Given the description of an element on the screen output the (x, y) to click on. 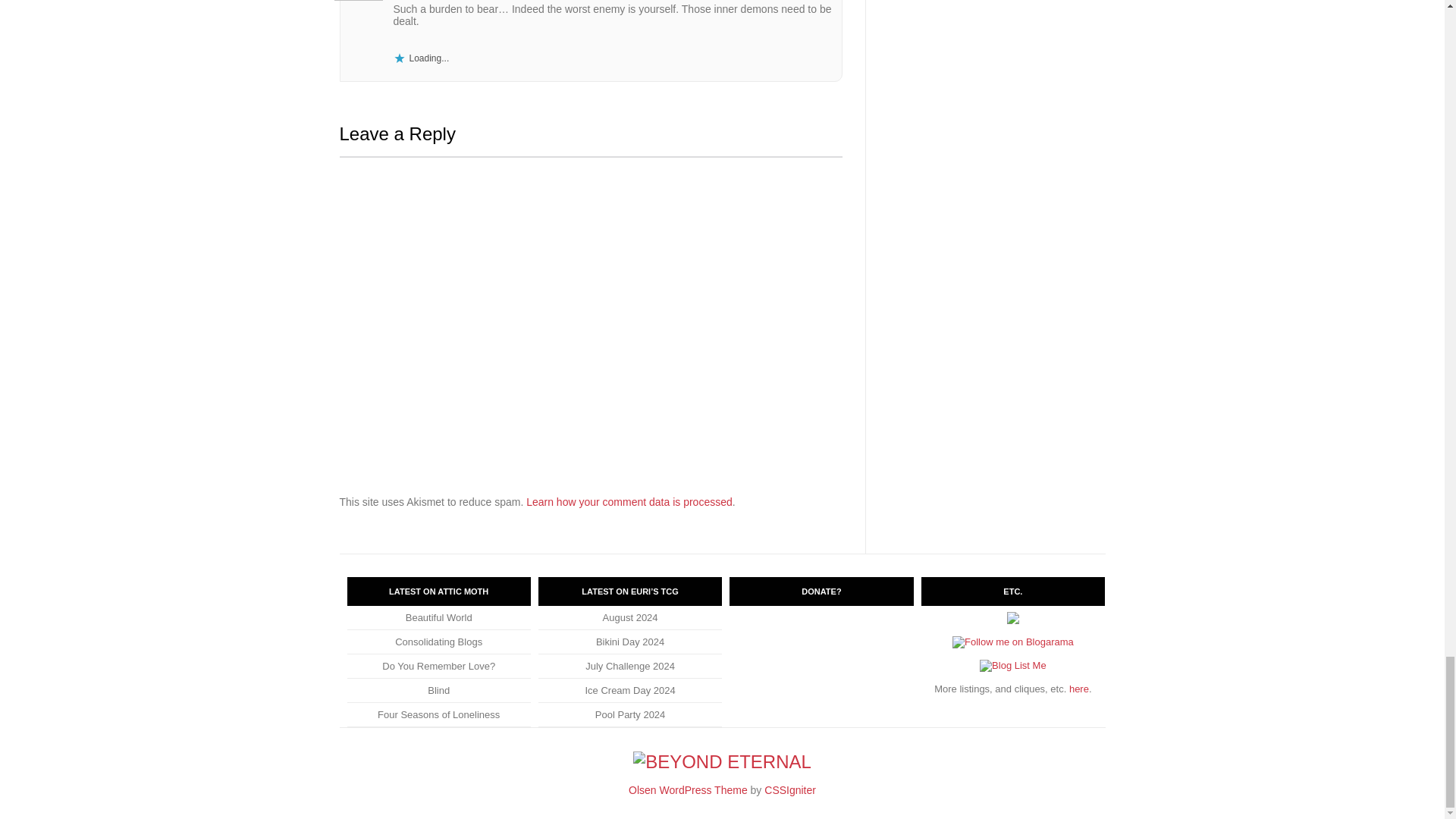
Blogging theme for WordPress (688, 789)
